Given the description of an element on the screen output the (x, y) to click on. 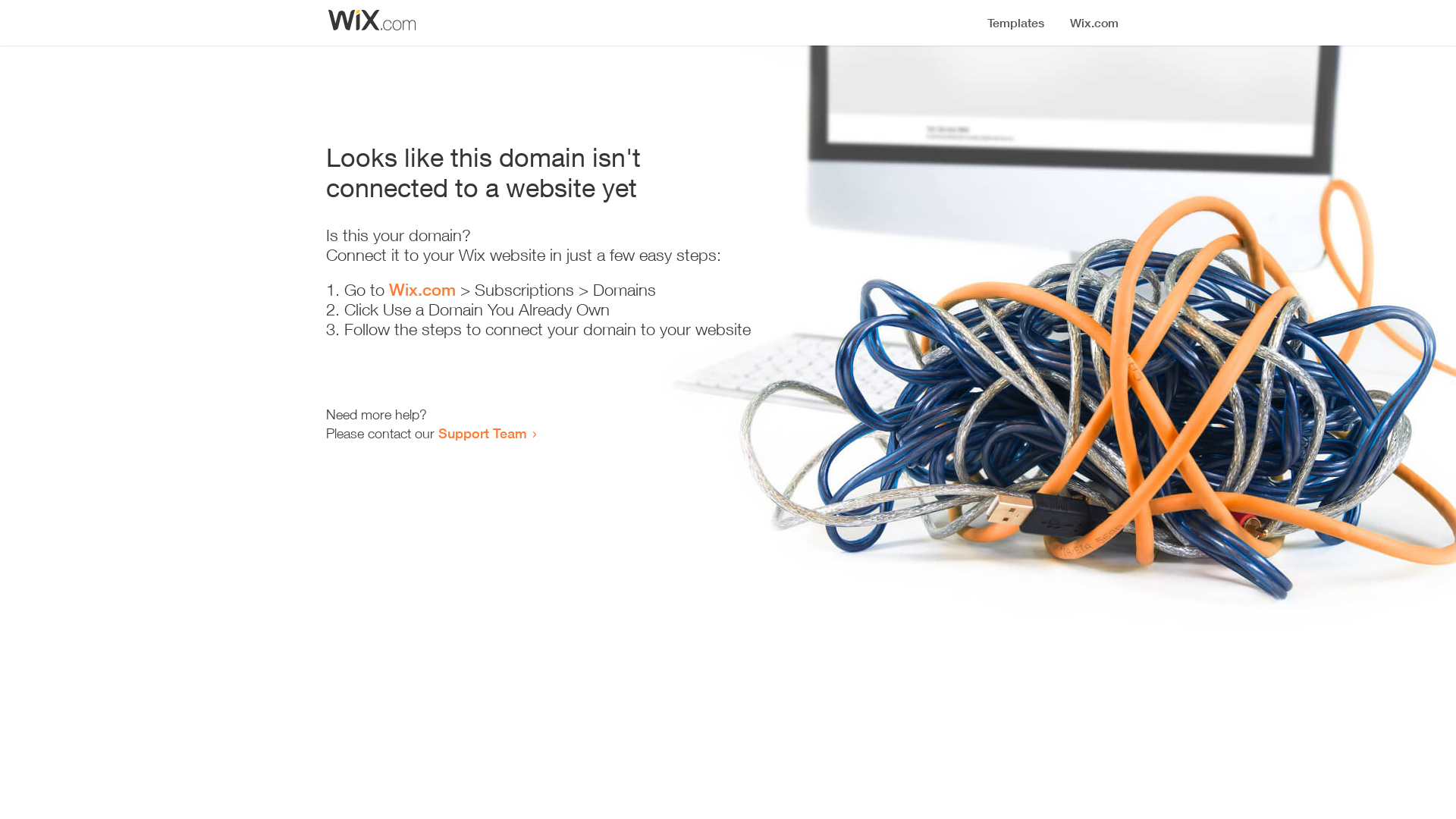
Wix.com Element type: text (422, 289)
Support Team Element type: text (482, 432)
